Given the description of an element on the screen output the (x, y) to click on. 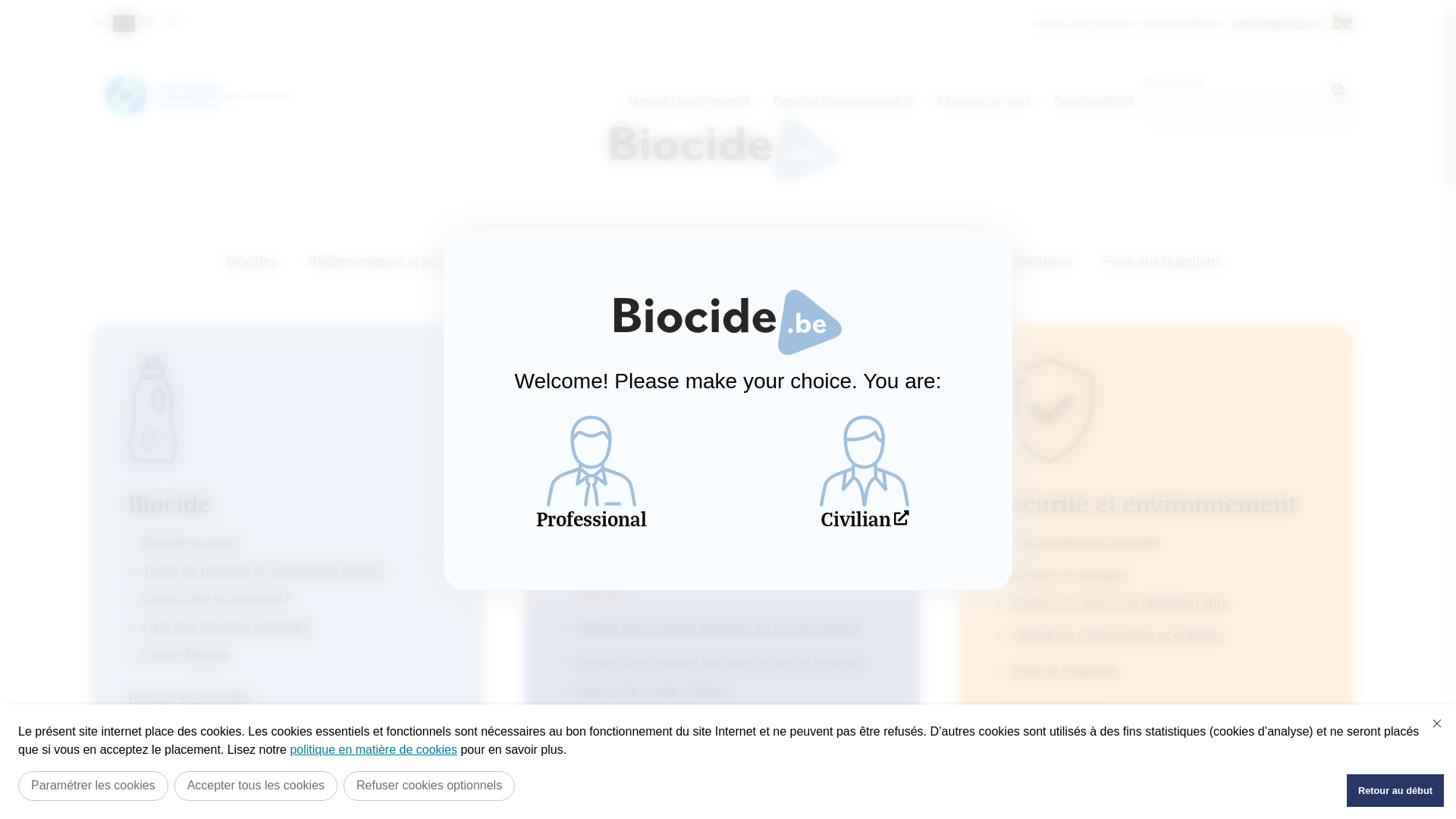
Base de connaissances Element type: text (843, 101)
Forum Biocide Element type: text (186, 654)
FR Element type: text (123, 22)
Accepter tous les cookies Element type: text (255, 785)
EN Element type: text (174, 22)
Civilian Element type: text (864, 472)
Utiliser des produits biocides en circuit restreint Element type: text (719, 626)
Biocide ou non? Element type: text (191, 541)
Risques et dangers Element type: text (1070, 574)
Manuel circuit restreint Element type: text (689, 101)
Refuser cookies optionnels Element type: text (428, 785)
www.belgium.be Element type: text (1276, 23)
Professional Element type: text (591, 472)
Vendre des produits biocides en circuit restreint Element type: text (720, 662)
Apply Element type: text (1338, 90)
DE Element type: text (149, 22)
Tout sur les biocides Element type: text (189, 697)
Back to the home page Element type: hover (723, 150)
Biocides Element type: text (251, 266)
Grand public Element type: text (1093, 101)
Circuit libre ou restreint? Element type: text (216, 597)
Foire aux questions Element type: text (1161, 266)
Publications Element type: text (1035, 266)
Aller au contenu principal Element type: text (727, 4)
Fermer Element type: hover (1436, 723)
Types de produits et substances actives Element type: text (263, 569)
NL Element type: text (99, 22)
